Given the description of an element on the screen output the (x, y) to click on. 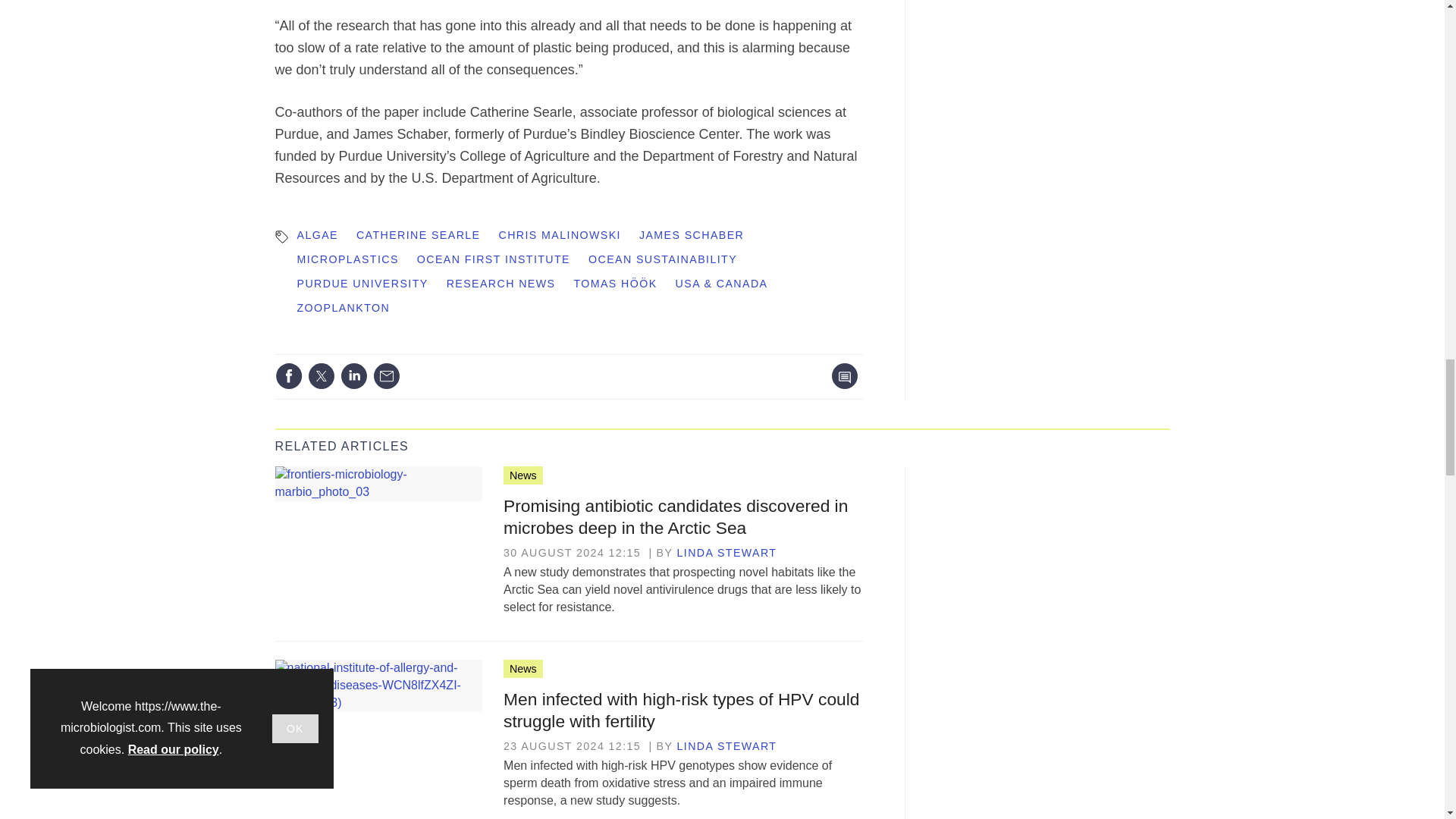
Share this on Facebook (288, 375)
Share this on Twitter (320, 375)
No comments (840, 385)
Email this article (386, 375)
Share this on Linked in (352, 375)
